Given the description of an element on the screen output the (x, y) to click on. 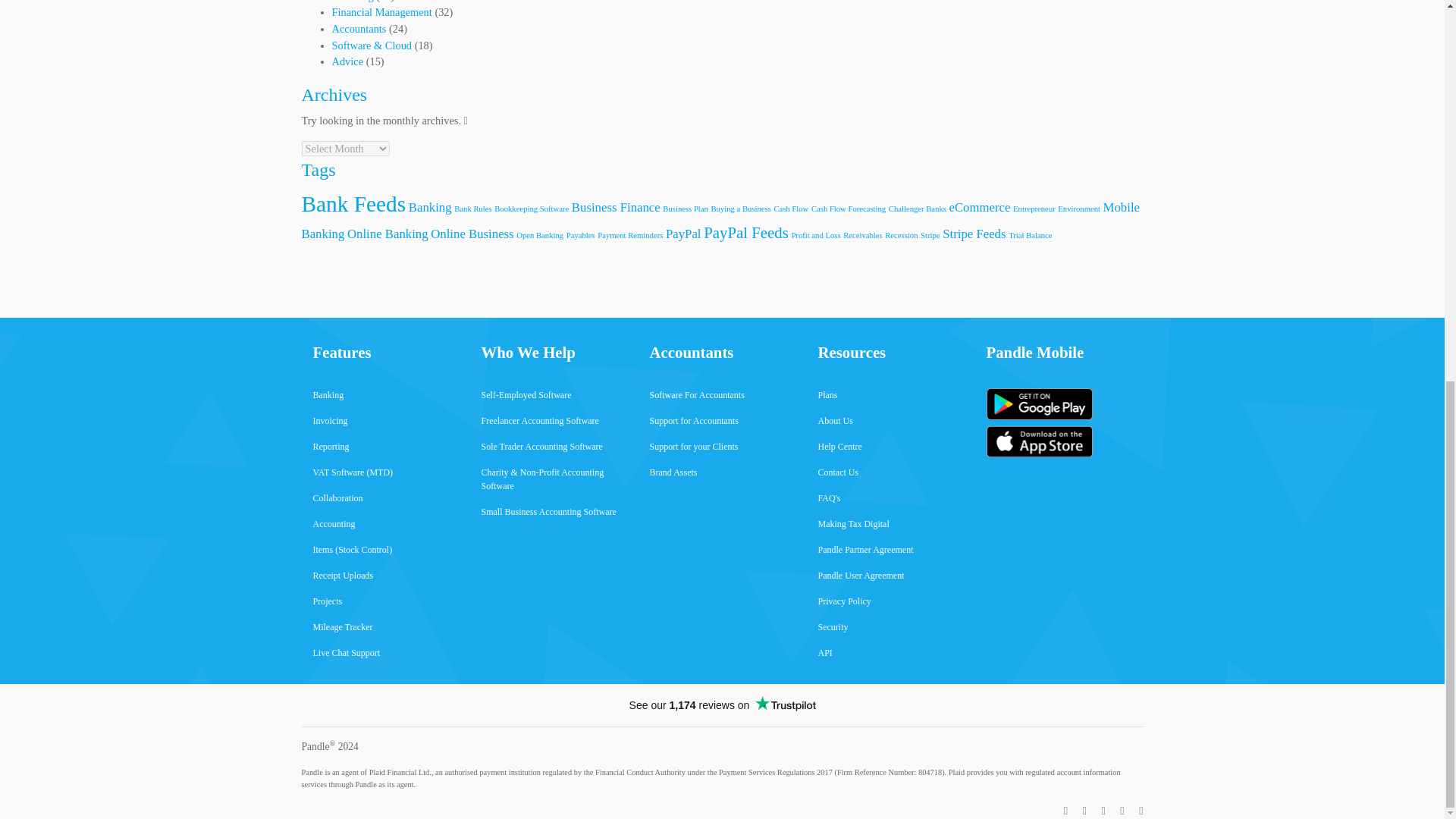
Customer reviews powered by Trustpilot (721, 705)
